Given the description of an element on the screen output the (x, y) to click on. 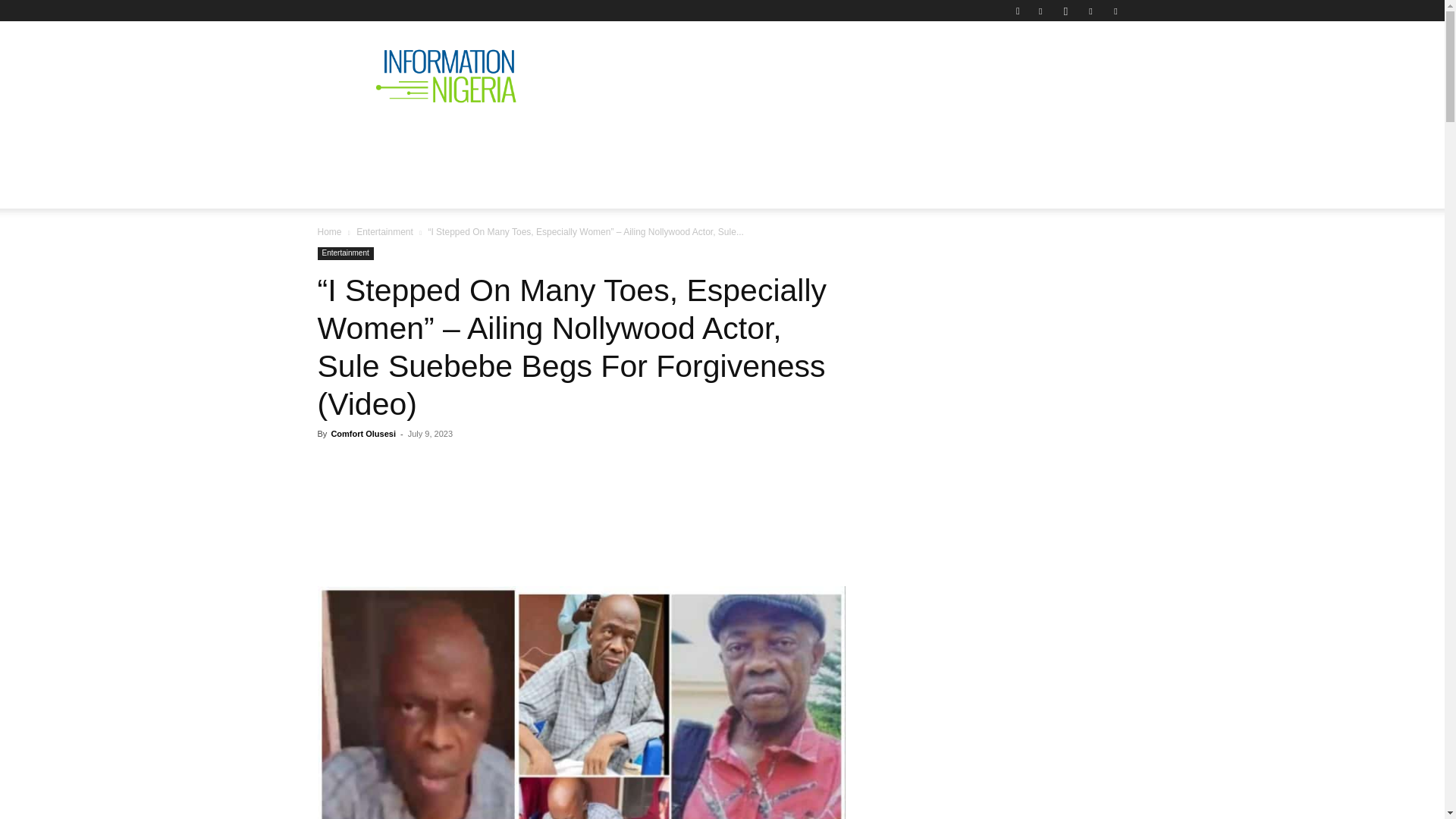
Twitter (1090, 10)
METRO NEWS (884, 139)
View all posts in Entertainment (384, 231)
BBC PIDGIN (779, 139)
Search (1085, 64)
SPECIAL REPORTS (660, 139)
SPORTS (974, 139)
Nigeria News, Nigerian Newspaper (446, 76)
NATIONAL NEWS (444, 139)
Instagram (1065, 10)
Youtube (1114, 10)
POLITICS (551, 139)
HOME (347, 139)
Facebook (1040, 10)
